Given the description of an element on the screen output the (x, y) to click on. 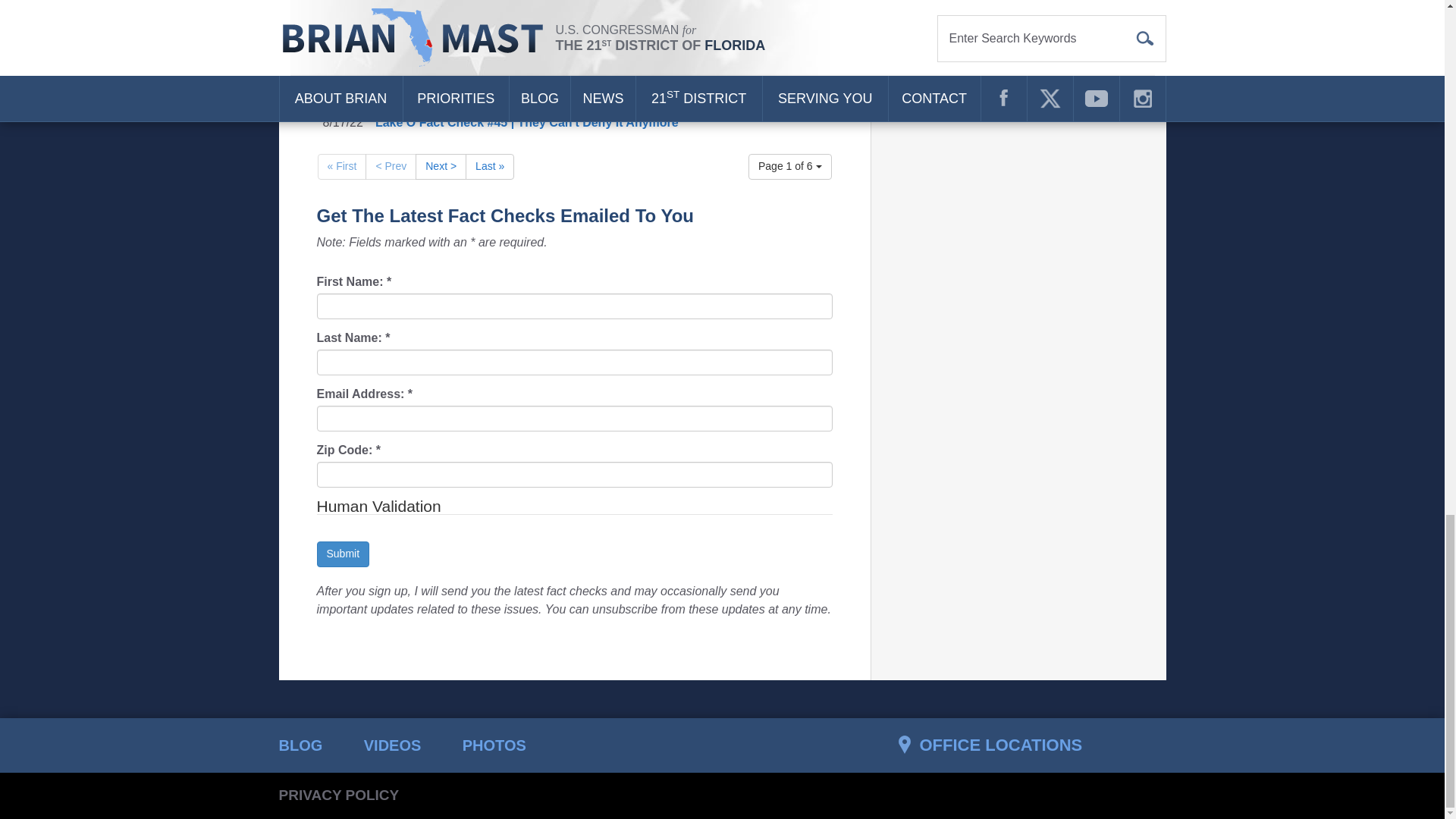
Submit (343, 554)
